Given the description of an element on the screen output the (x, y) to click on. 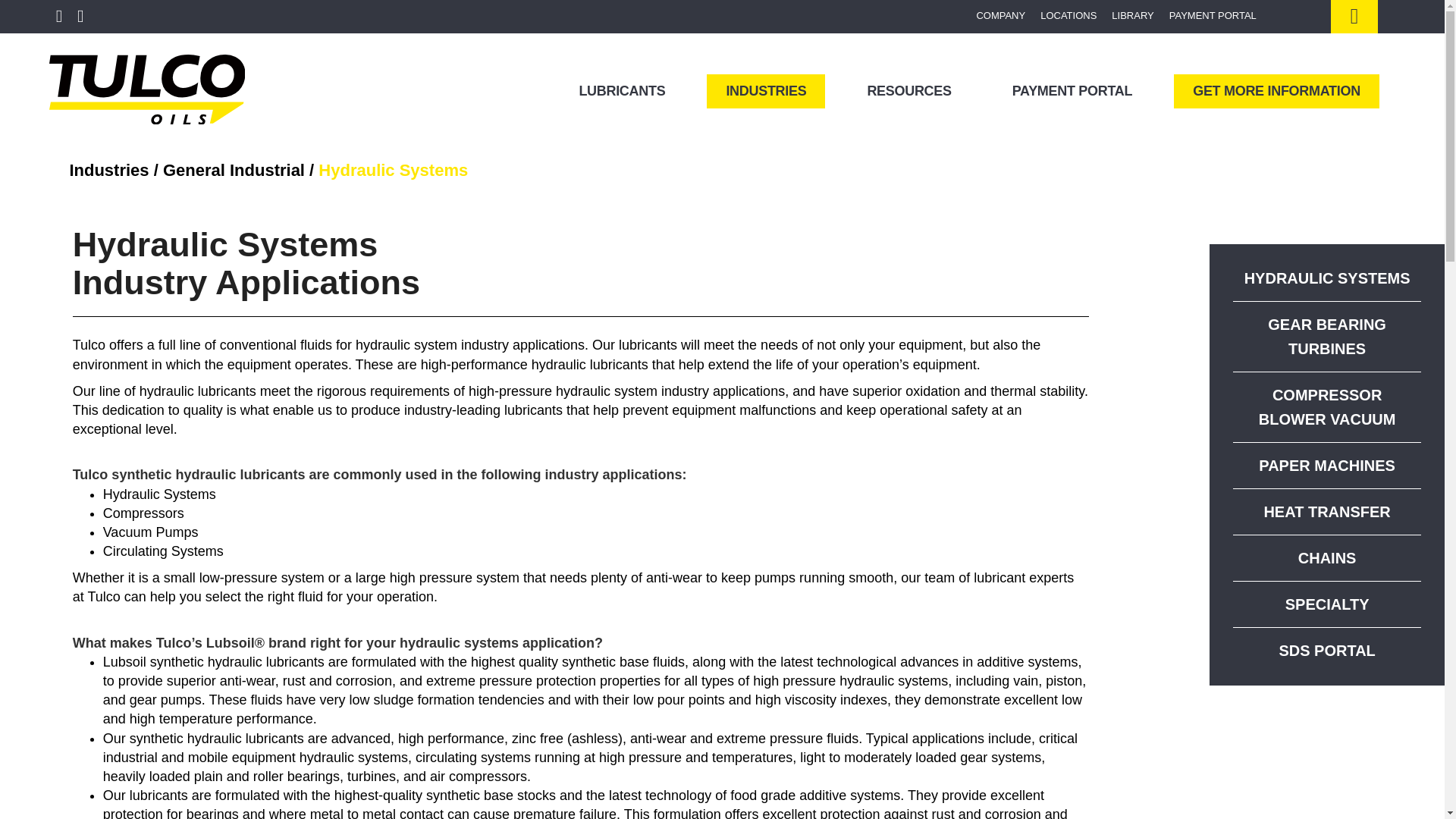
PAYMENT PORTAL (1212, 16)
COMPANY (1000, 16)
Click Here (1354, 20)
LIBRARY (1131, 16)
LOCATIONS (1067, 16)
